Given the description of an element on the screen output the (x, y) to click on. 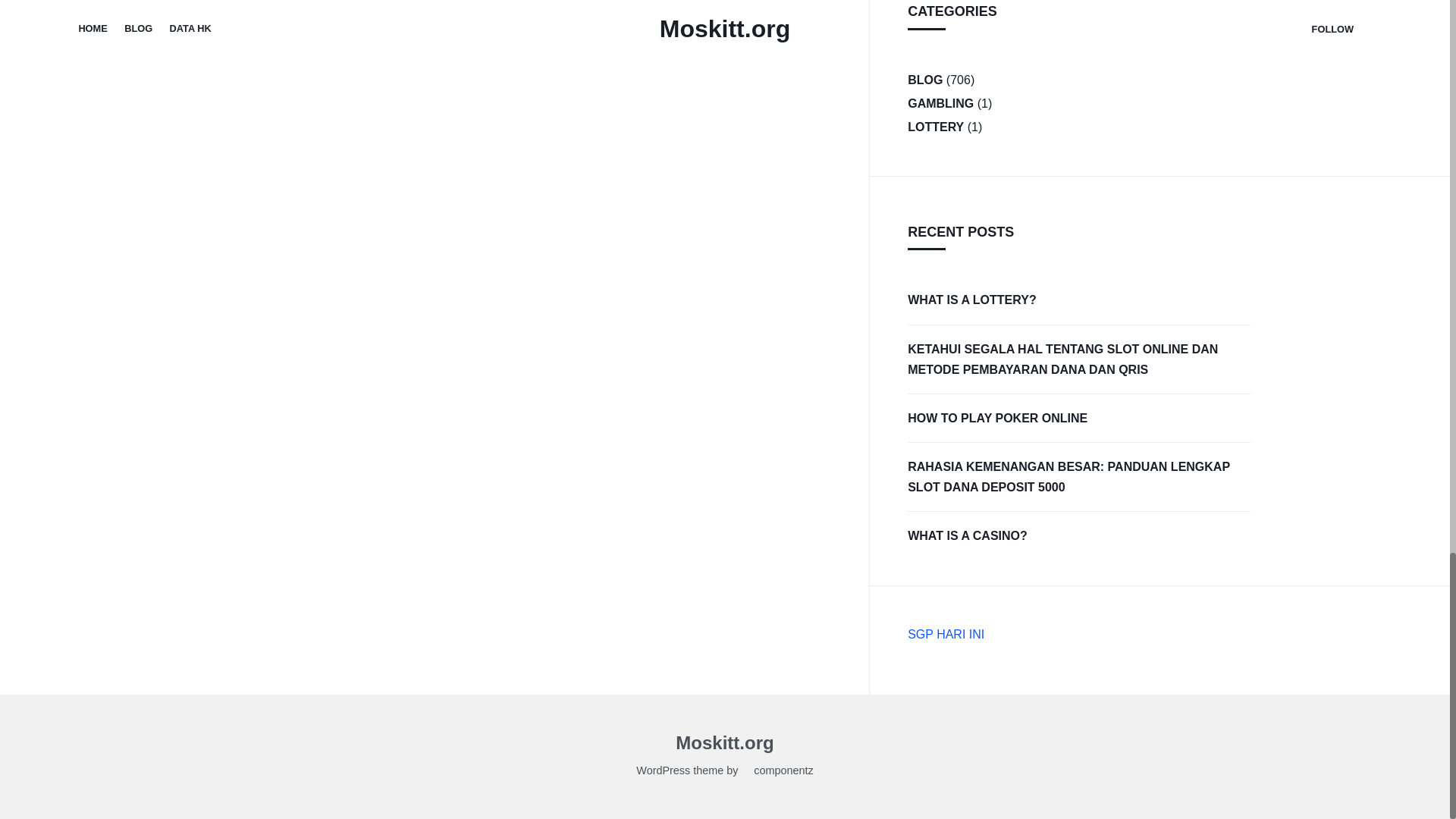
Moskitt.org (724, 745)
WordPress (663, 772)
